Given the description of an element on the screen output the (x, y) to click on. 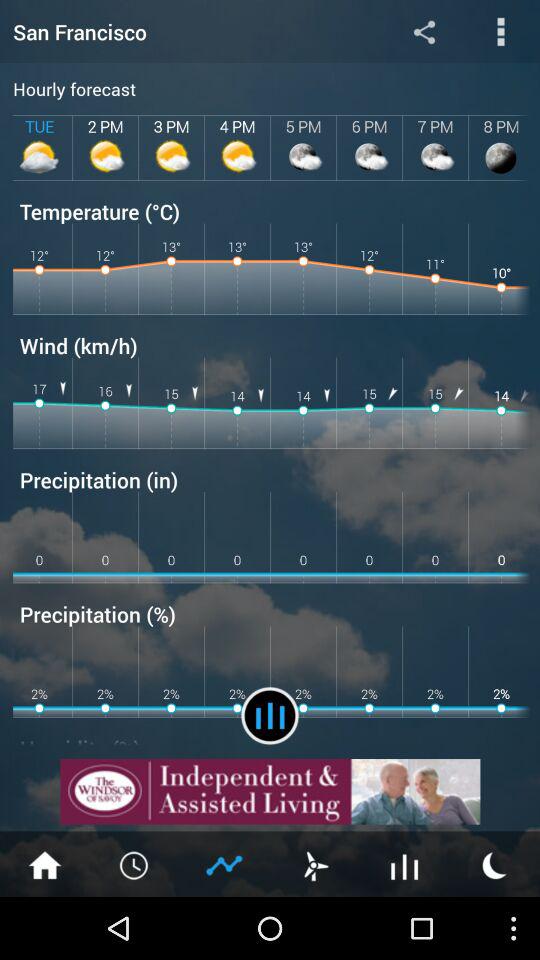
details about advertisement (270, 791)
